Given the description of an element on the screen output the (x, y) to click on. 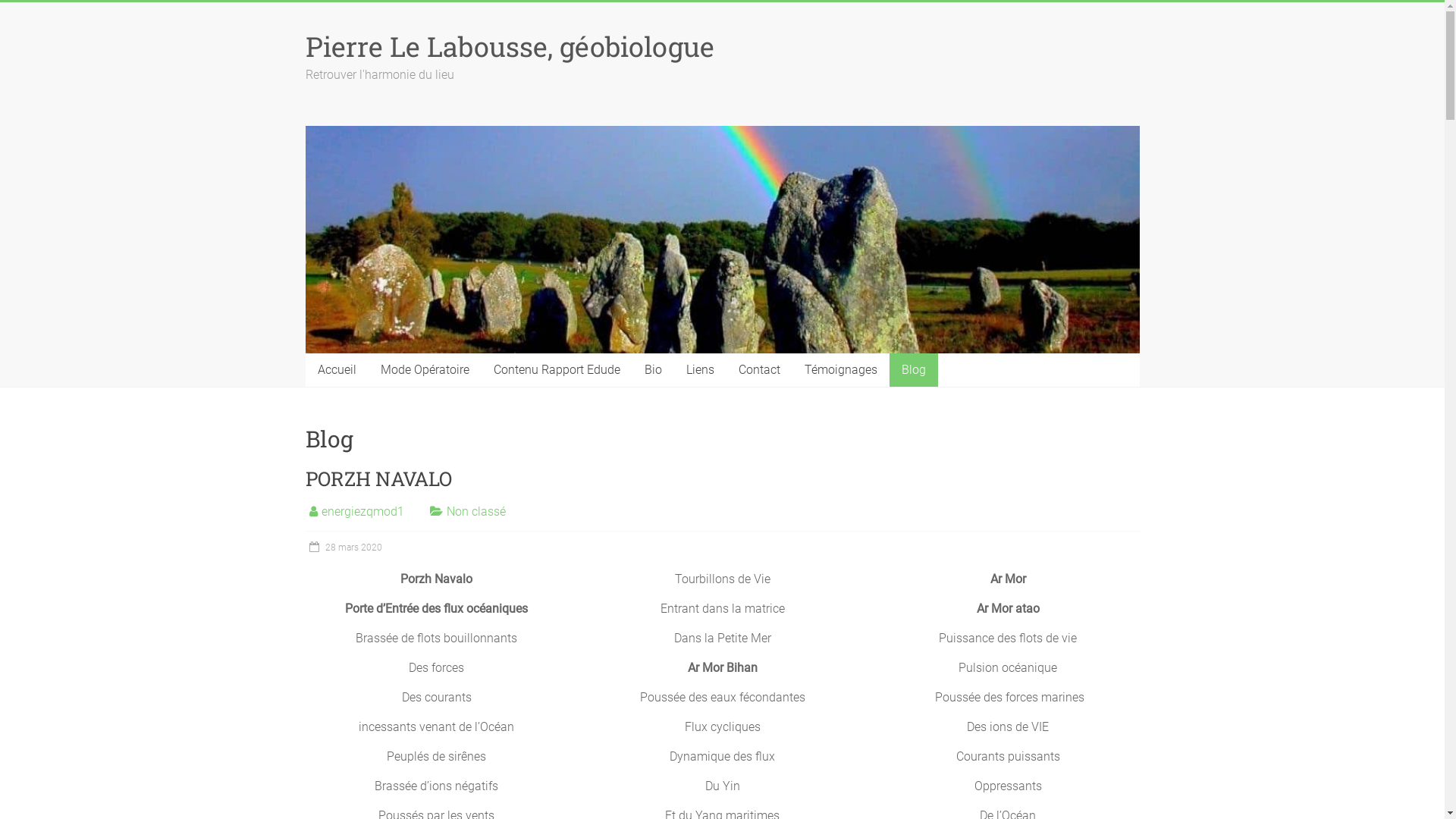
Bio Element type: text (653, 369)
Contact Element type: text (759, 369)
Liens Element type: text (699, 369)
28 mars 2020 Element type: text (342, 547)
Contenu Rapport Edude Element type: text (555, 369)
energiezqmod1 Element type: text (362, 511)
Blog Element type: text (912, 369)
PORZH NAVALO Element type: text (377, 478)
Accueil Element type: text (335, 369)
